Given the description of an element on the screen output the (x, y) to click on. 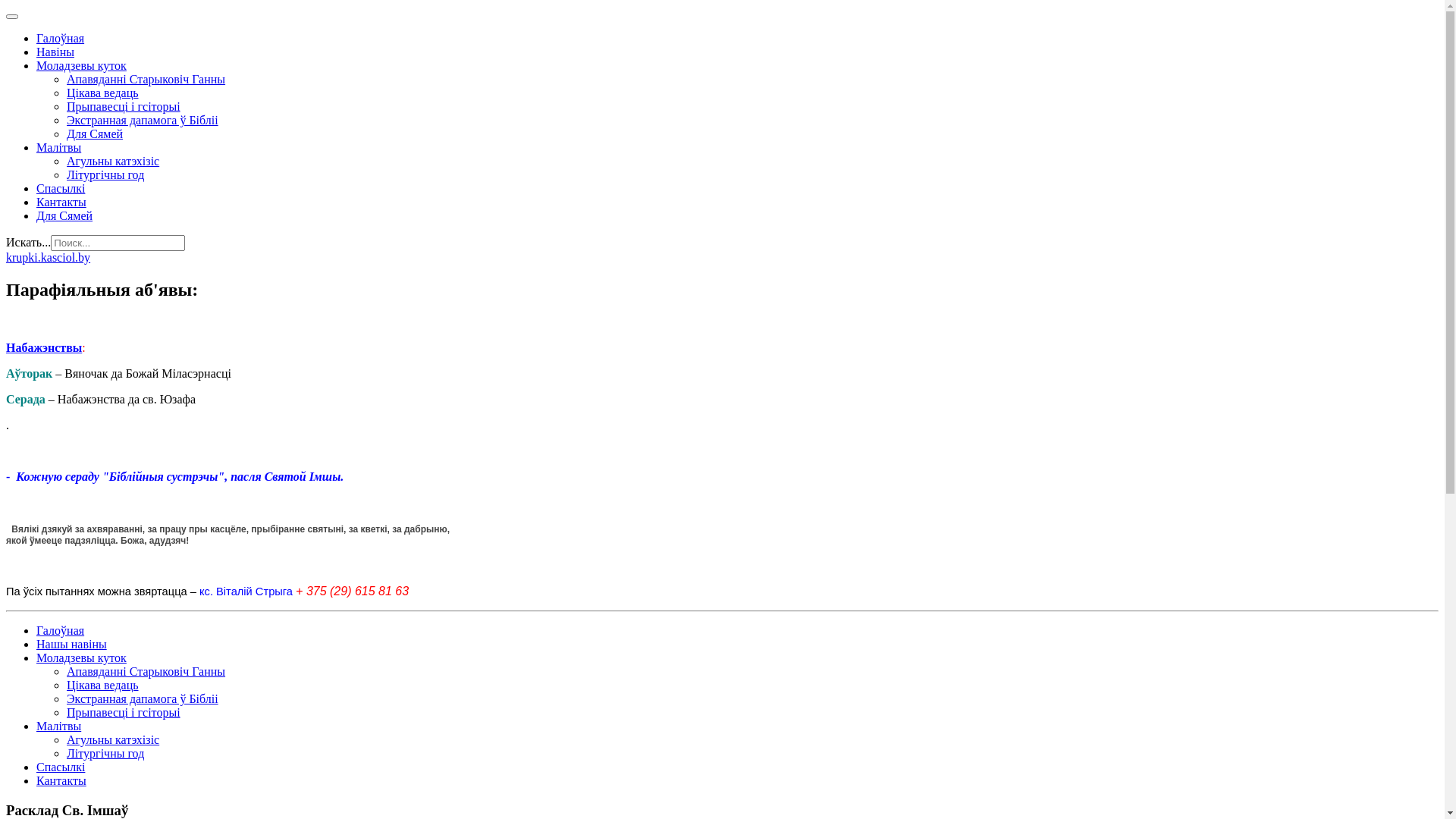
krupki.kasciol.by Element type: text (48, 257)
